Given the description of an element on the screen output the (x, y) to click on. 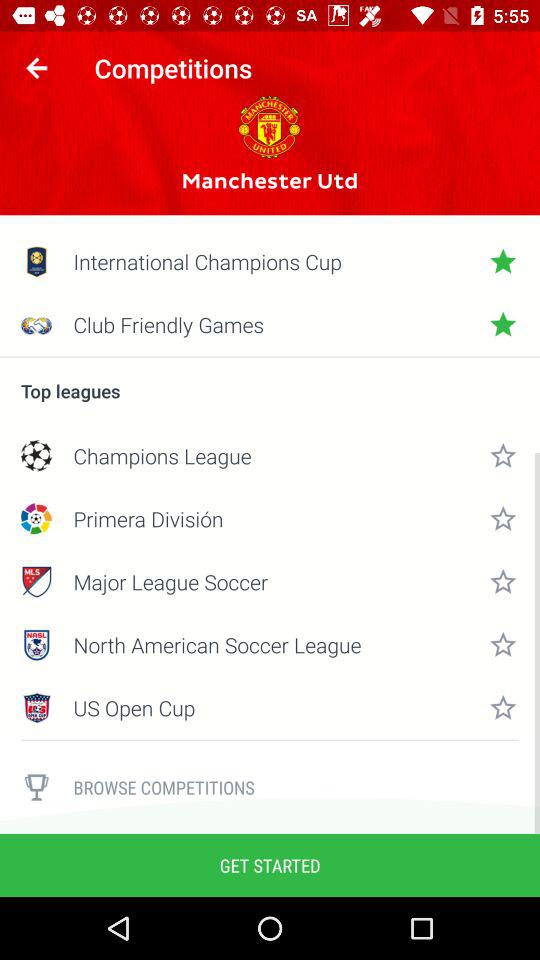
turn on icon above browse competitions item (270, 740)
